Given the description of an element on the screen output the (x, y) to click on. 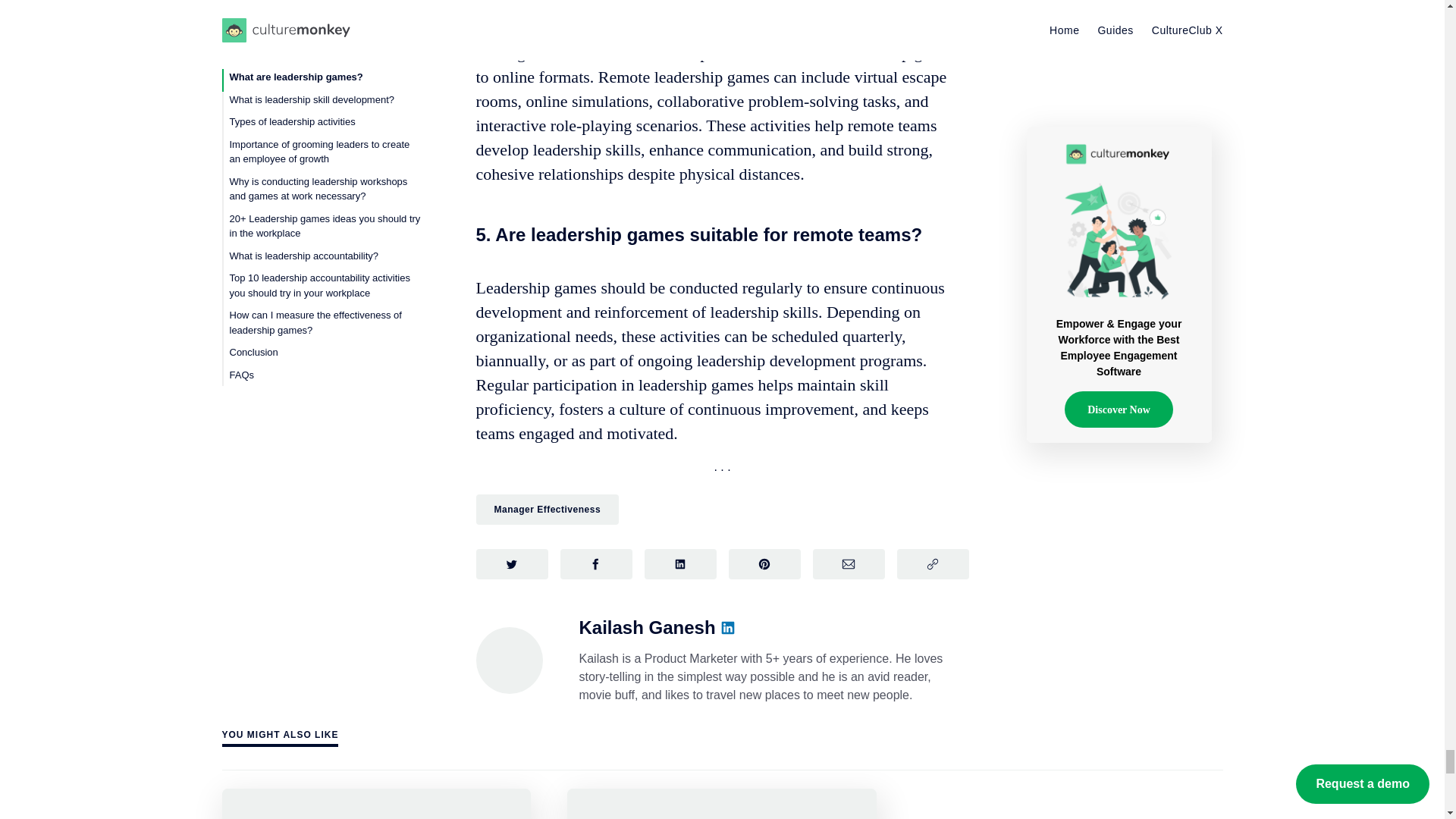
Share on LinkedIn (680, 563)
Share on Twitter (512, 563)
Share on Pinterest (763, 563)
Share via Email (848, 563)
Share on Facebook (595, 563)
Copy link (932, 563)
